Given the description of an element on the screen output the (x, y) to click on. 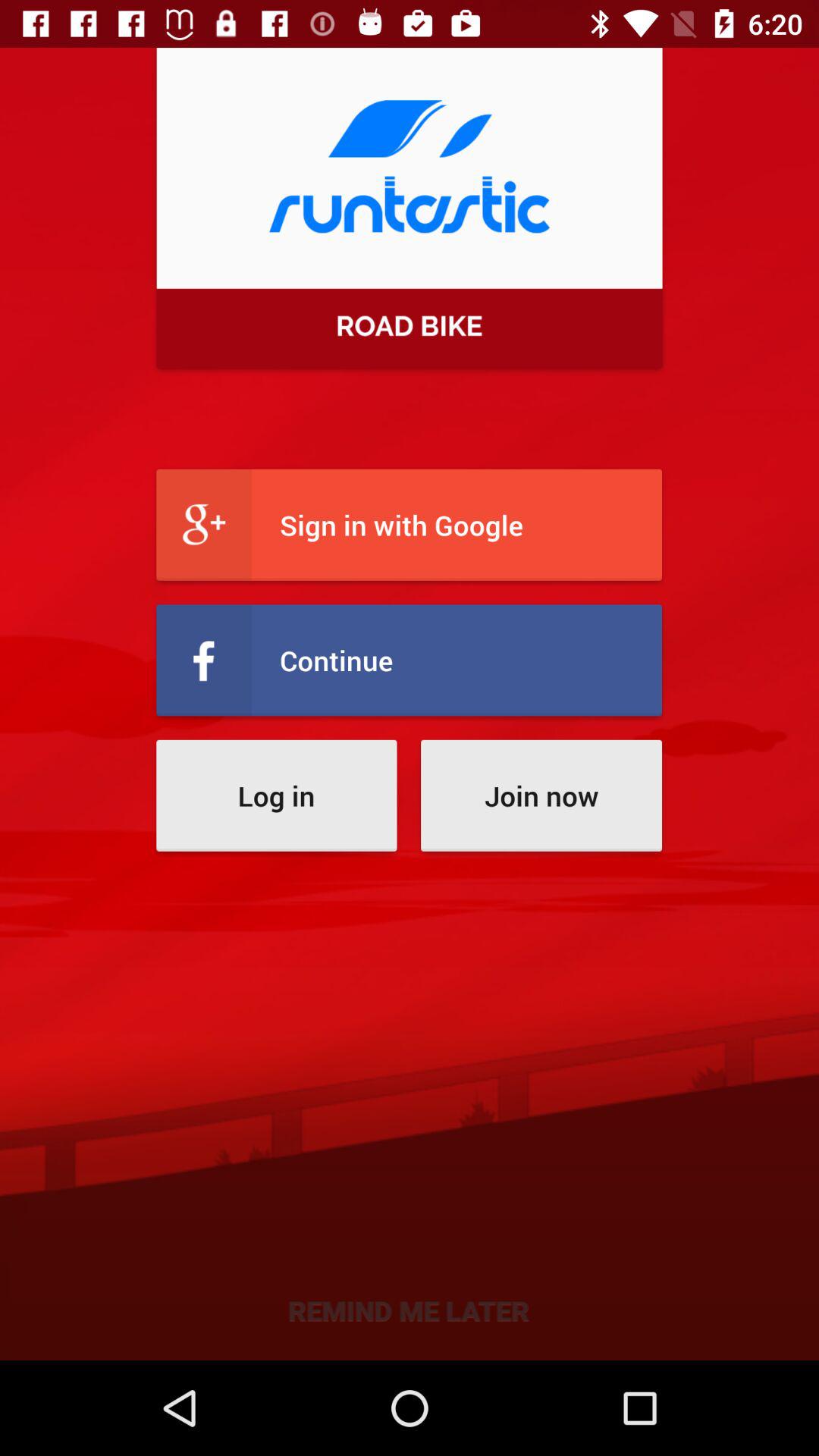
jump to the remind me later item (409, 1309)
